Given the description of an element on the screen output the (x, y) to click on. 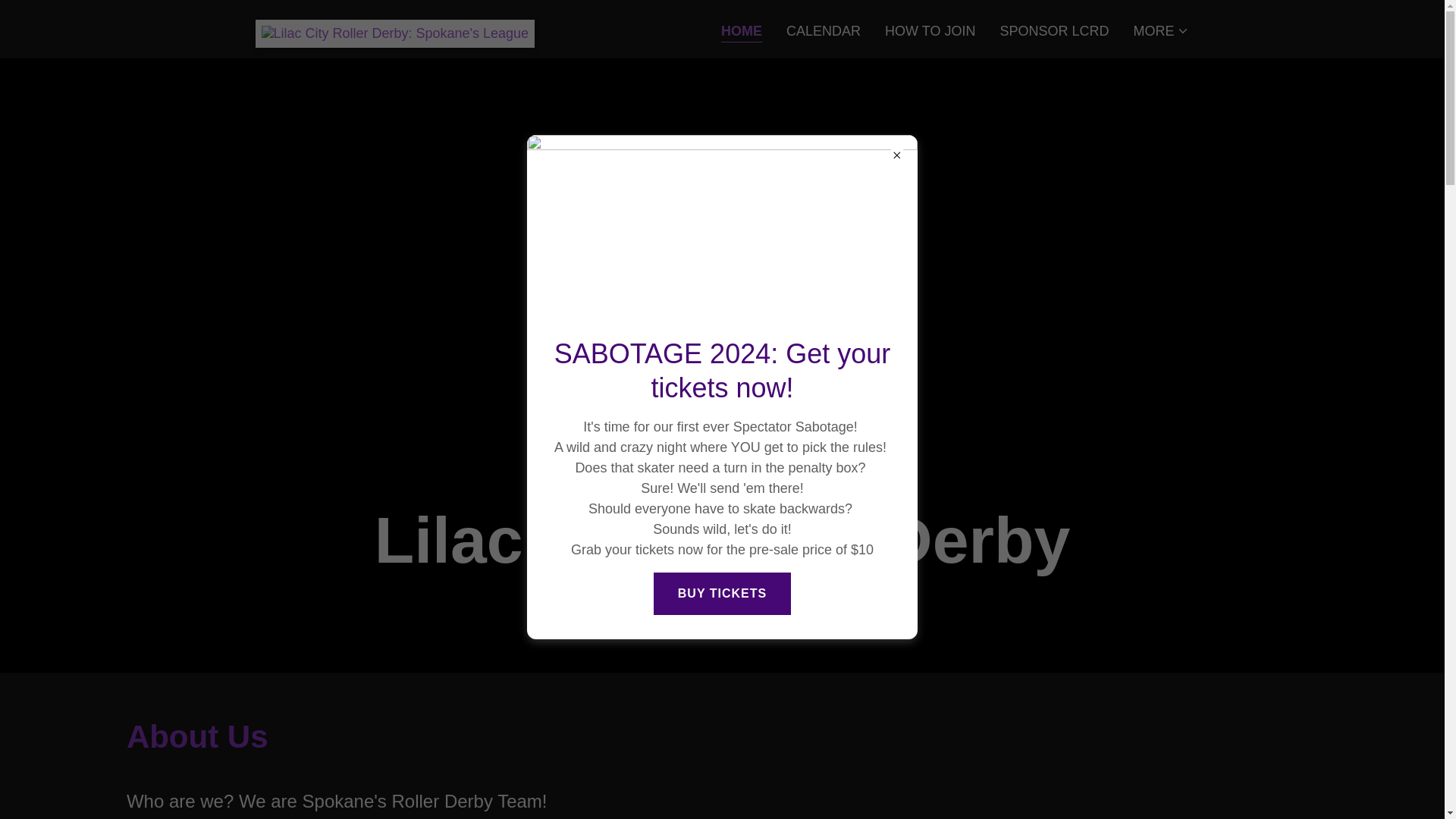
SPONSOR LCRD (1053, 31)
Lilac City Roller Derby: Spokane's League (394, 26)
MORE (1160, 31)
HOW TO JOIN (929, 31)
CALENDAR (822, 31)
HOME (740, 32)
